Given the description of an element on the screen output the (x, y) to click on. 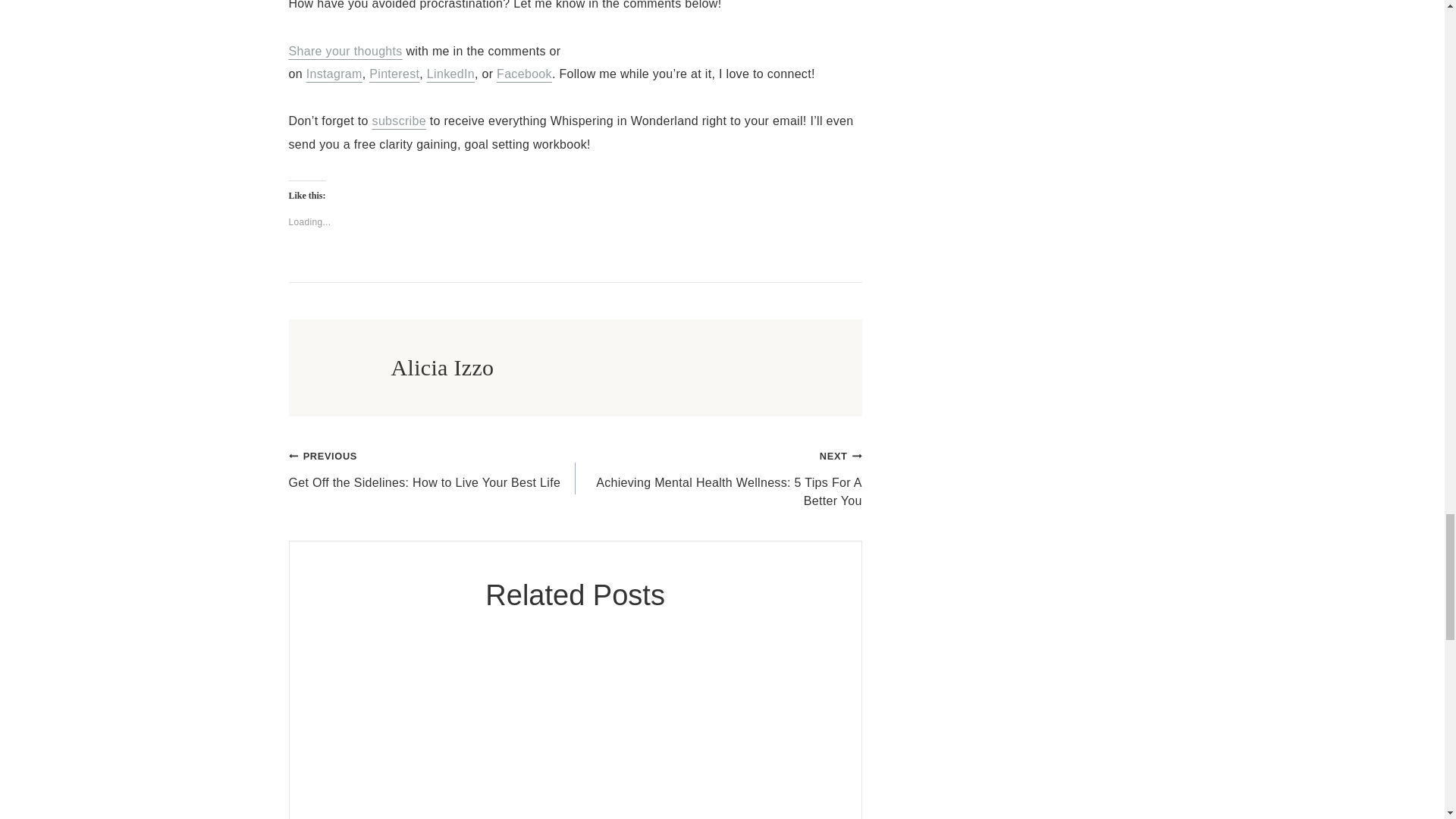
Pinterest (394, 73)
Posts by Alicia Izzo (443, 367)
LinkedIn (450, 73)
Instagram (333, 73)
Facebook (523, 73)
Share your thoughts (344, 51)
Alicia Izzo (443, 367)
subscribe (431, 469)
